Given the description of an element on the screen output the (x, y) to click on. 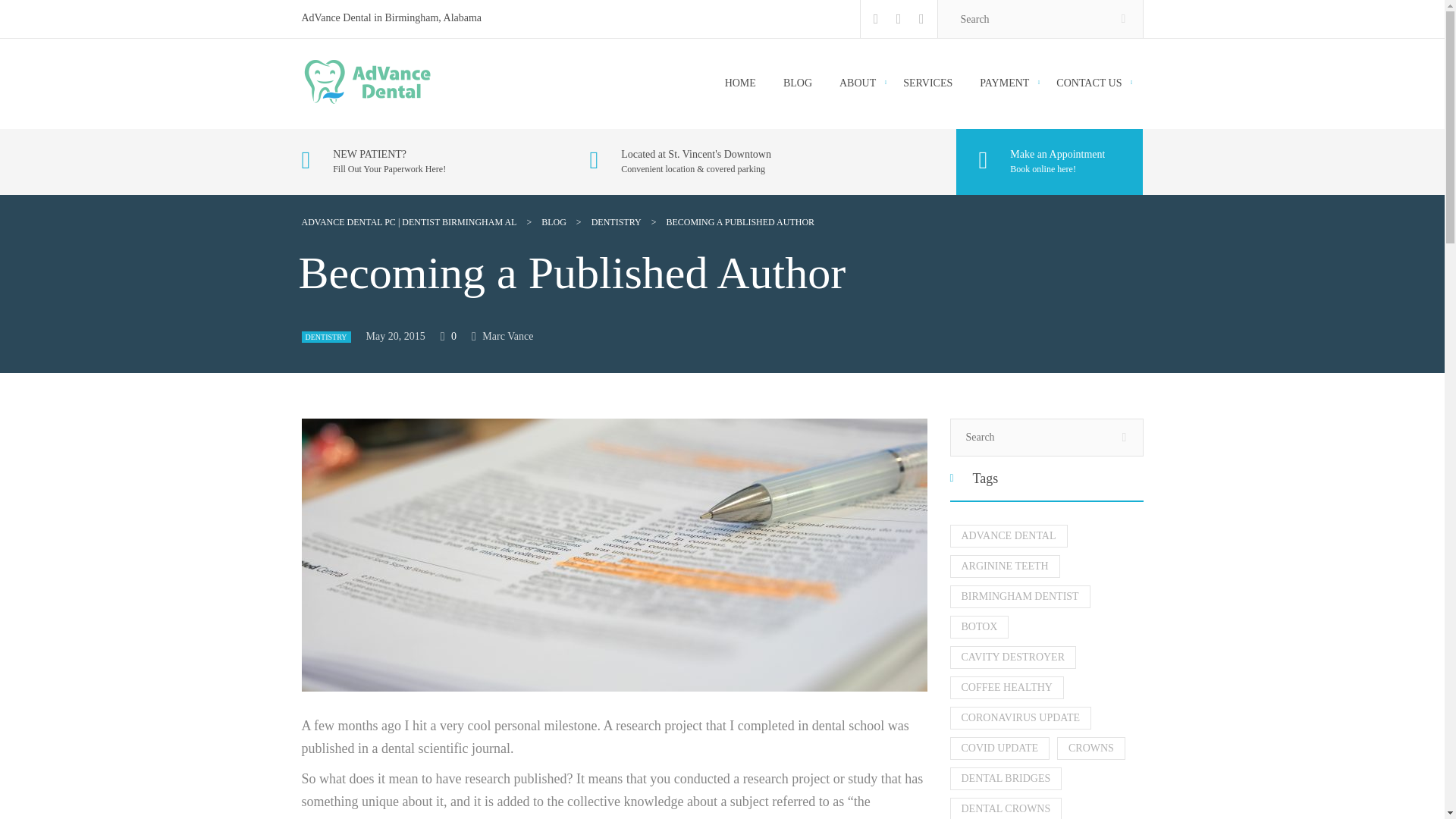
PAYMENT (1004, 82)
ABOUT (858, 82)
Go to the Dentistry Category archives. (616, 222)
SERVICES (927, 82)
Go to Blog. (553, 222)
CONTACT US (1089, 82)
BLOG (553, 222)
HOME (740, 82)
